Given the description of an element on the screen output the (x, y) to click on. 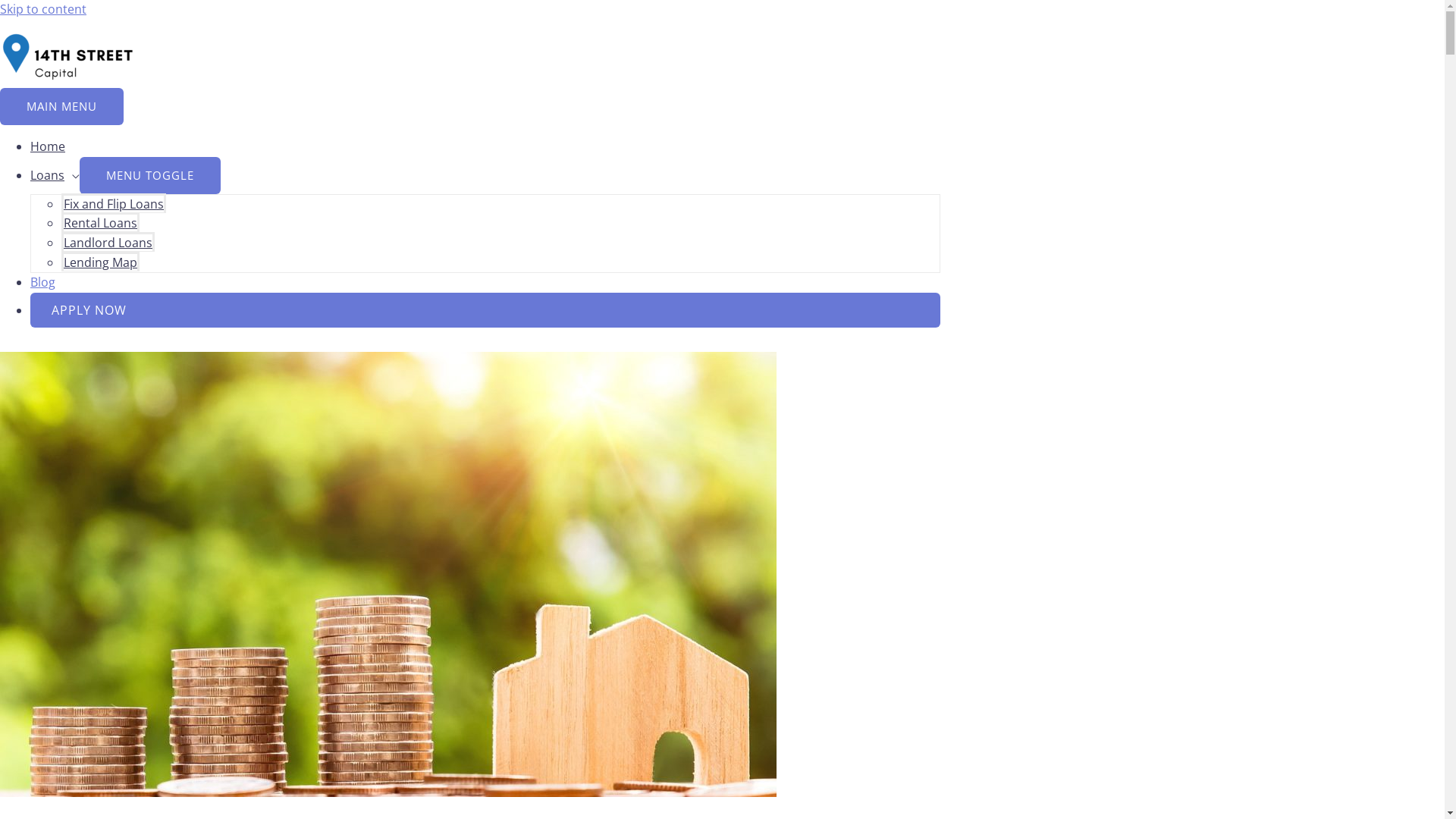
Blog Element type: text (42, 281)
MENU TOGGLE Element type: text (149, 175)
Skip to content Element type: text (43, 8)
MAIN MENU Element type: text (61, 106)
Fix and Flip Loans Element type: text (113, 203)
APPLY NOW Element type: text (485, 309)
Lending Map Element type: text (100, 261)
Rental Loans Element type: text (100, 222)
Home Element type: text (47, 146)
Loans Element type: text (54, 174)
Landlord Loans Element type: text (107, 241)
